Given the description of an element on the screen output the (x, y) to click on. 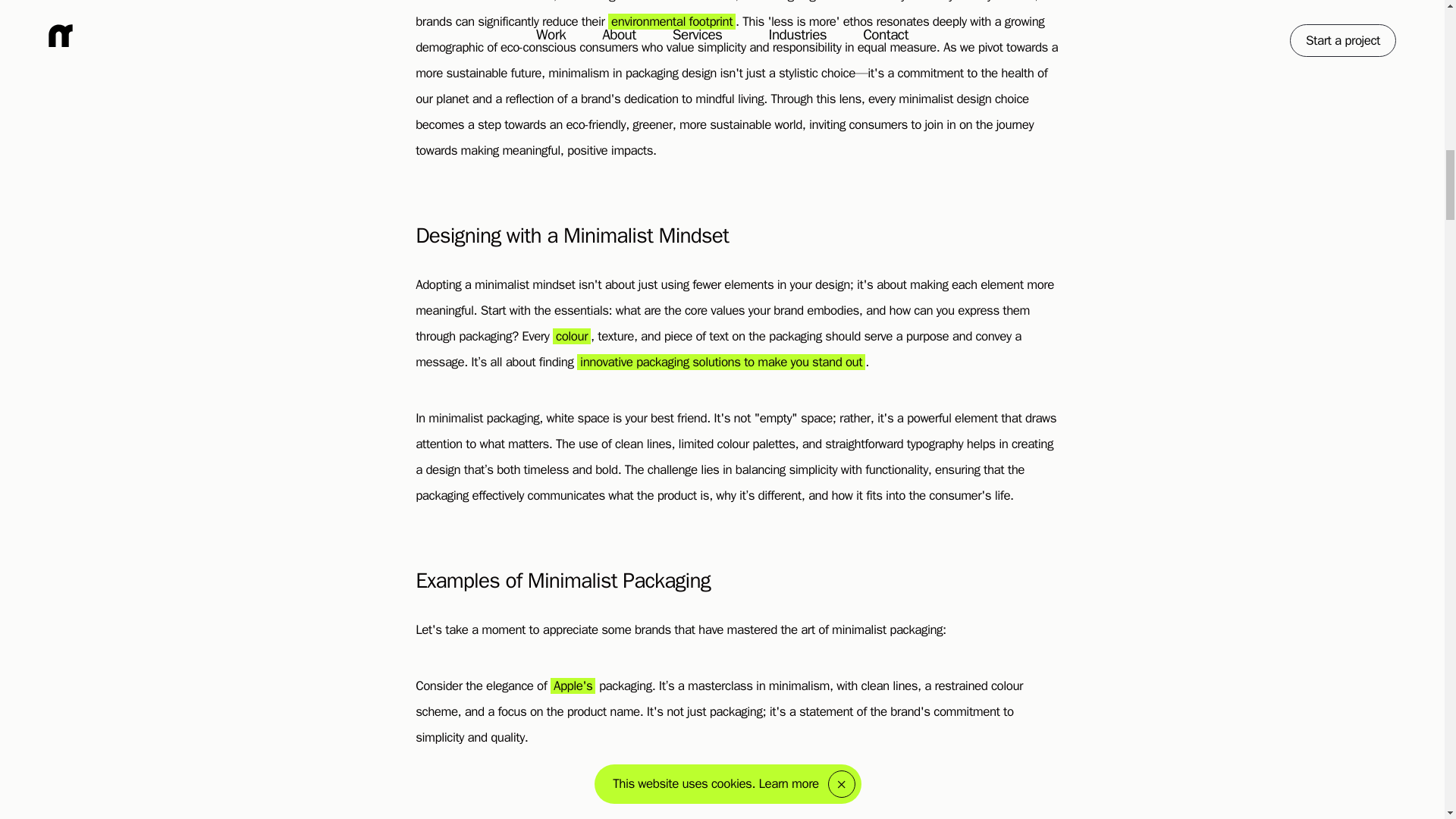
colour (572, 335)
innovative packaging solutions to make you stand out (720, 361)
Apple's (572, 685)
environmental footprint (671, 21)
